Given the description of an element on the screen output the (x, y) to click on. 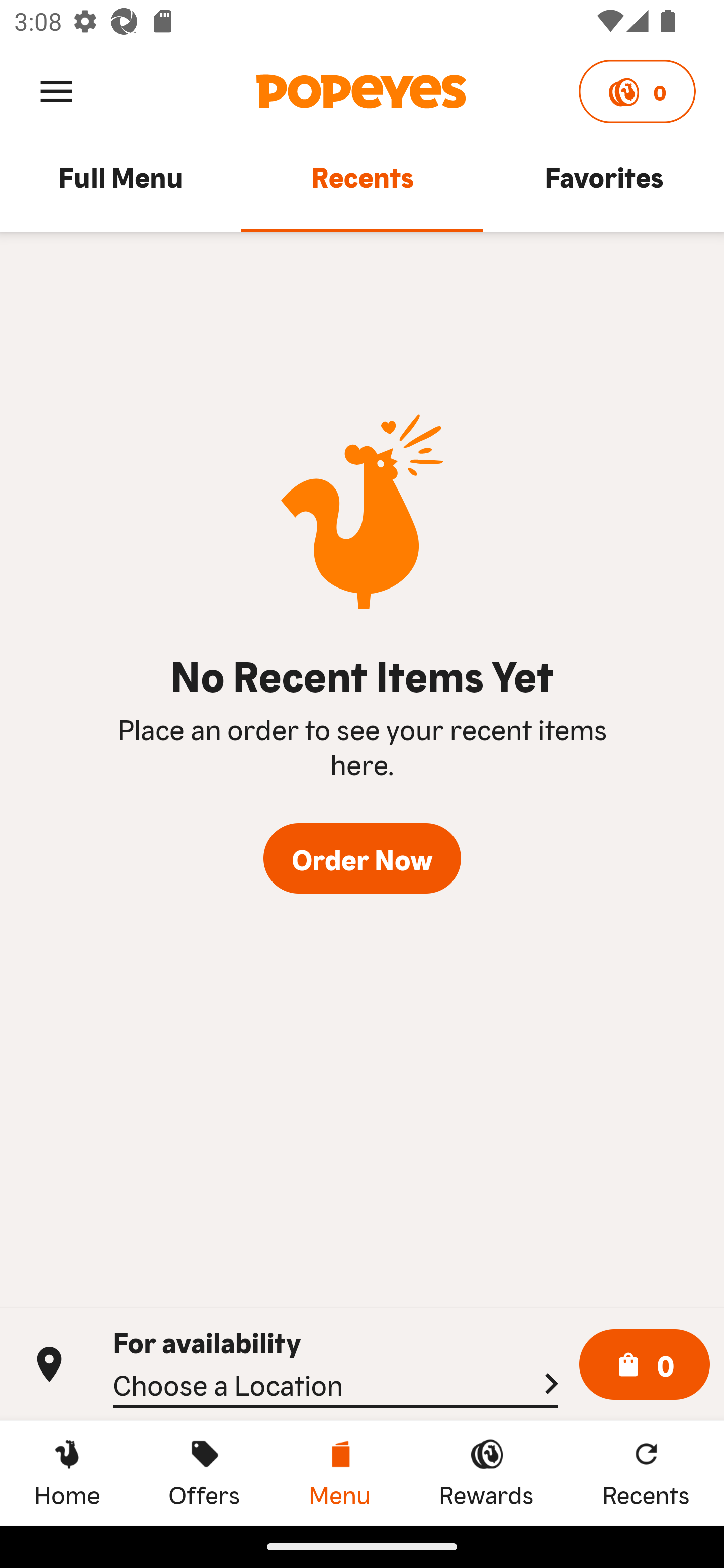
Menu  (56, 90)
0 Points 0 (636, 91)
Full Menu (120, 186)
Recents (361, 186)
Favorites (603, 186)
Order Now (362, 858)
0 Cart total  0 (644, 1364)
Home Home Home (66, 1472)
Offers Offers Offers (203, 1472)
Menu, current page Menu Menu, current page (339, 1472)
Rewards Rewards Rewards (486, 1472)
Recents Recents Recents (646, 1472)
